Given the description of an element on the screen output the (x, y) to click on. 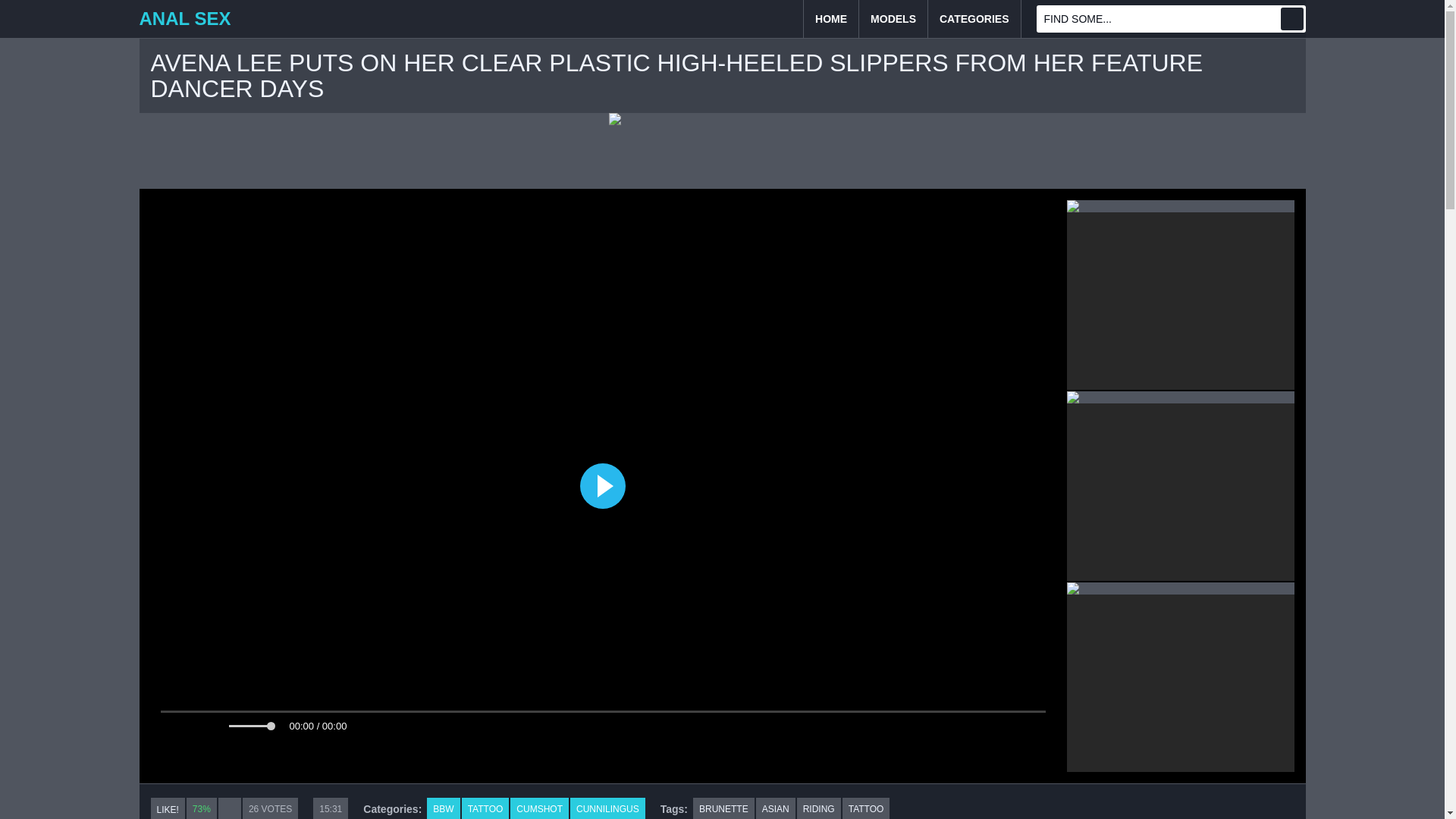
CUMSHOT (540, 808)
HOME (831, 18)
BBW (443, 808)
MODELS (893, 18)
LIKE! (166, 808)
CUNNILINGUS (607, 808)
Find (1291, 18)
ASIAN (774, 808)
BRUNETTE (723, 808)
RIDING (818, 808)
